Given the description of an element on the screen output the (x, y) to click on. 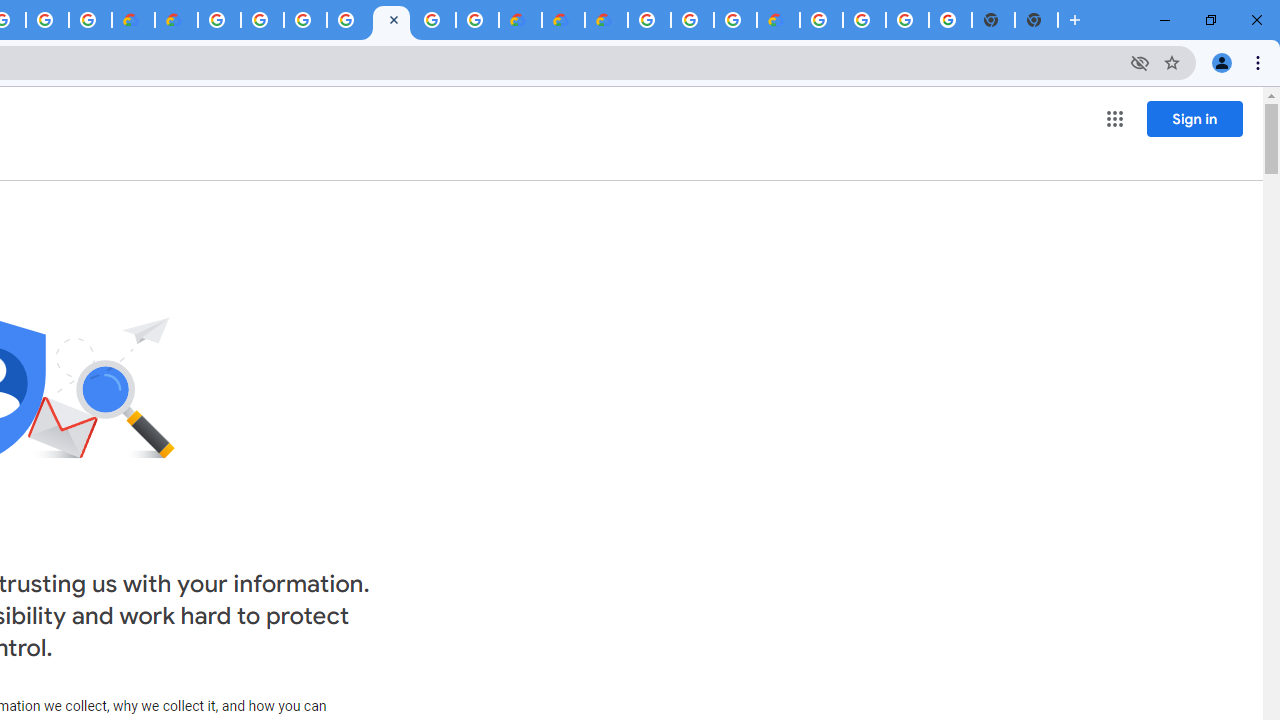
Customer Care | Google Cloud (520, 20)
Sign in (1194, 118)
Close (394, 19)
Sign in - Google Accounts (305, 20)
Third-party cookies blocked (1139, 62)
Google Cloud Platform (821, 20)
Google Cloud Platform (434, 20)
New Tab (1075, 20)
Minimize (1165, 20)
Google Cloud Service Health (777, 20)
Google Workspace - Specific Terms (47, 20)
Restore (1210, 20)
